Given the description of an element on the screen output the (x, y) to click on. 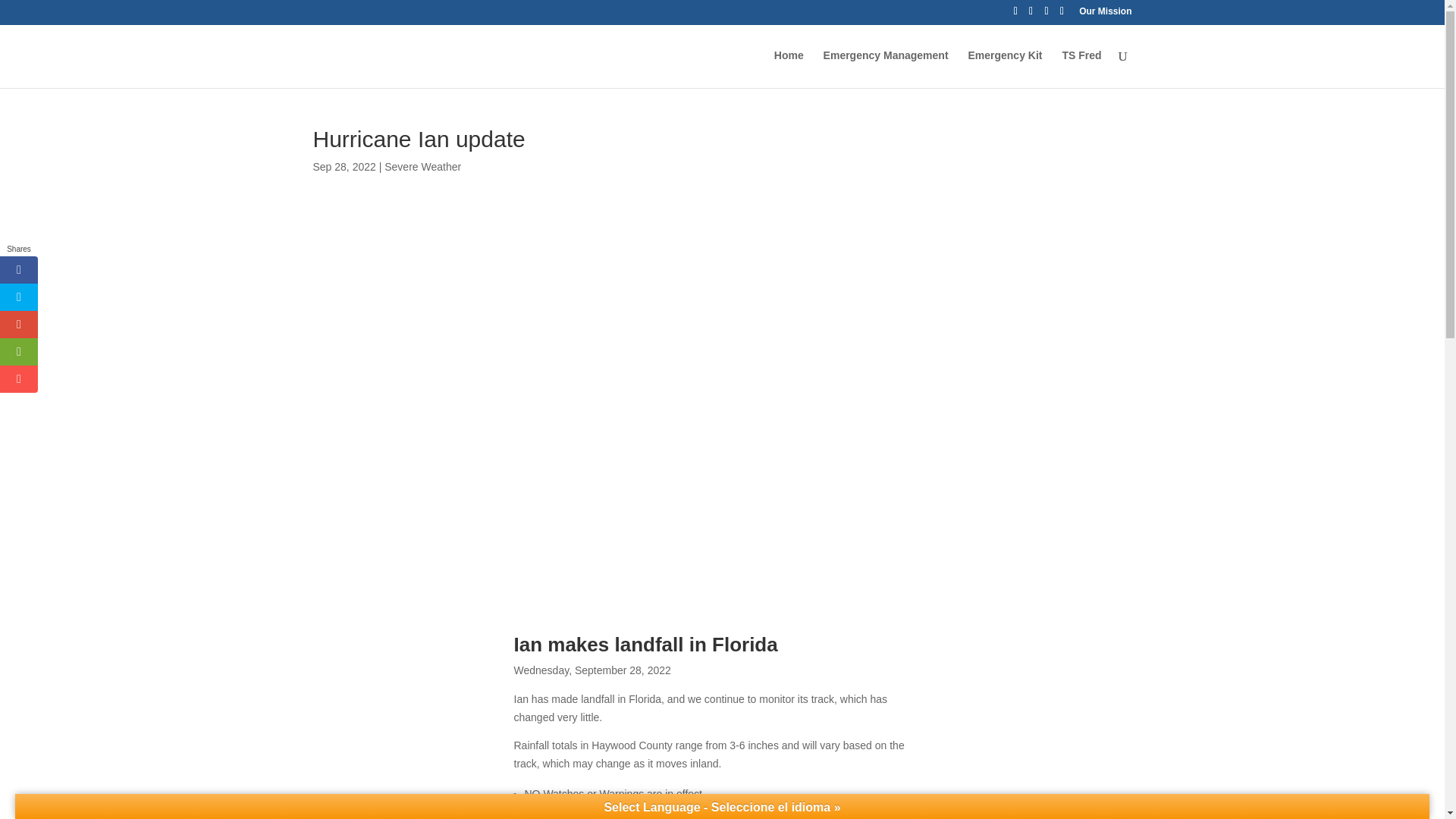
TS Fred (1080, 68)
Our Mission (1104, 14)
Severe Weather (422, 166)
Emergency Management (886, 68)
Emergency Kit (1005, 68)
